Given the description of an element on the screen output the (x, y) to click on. 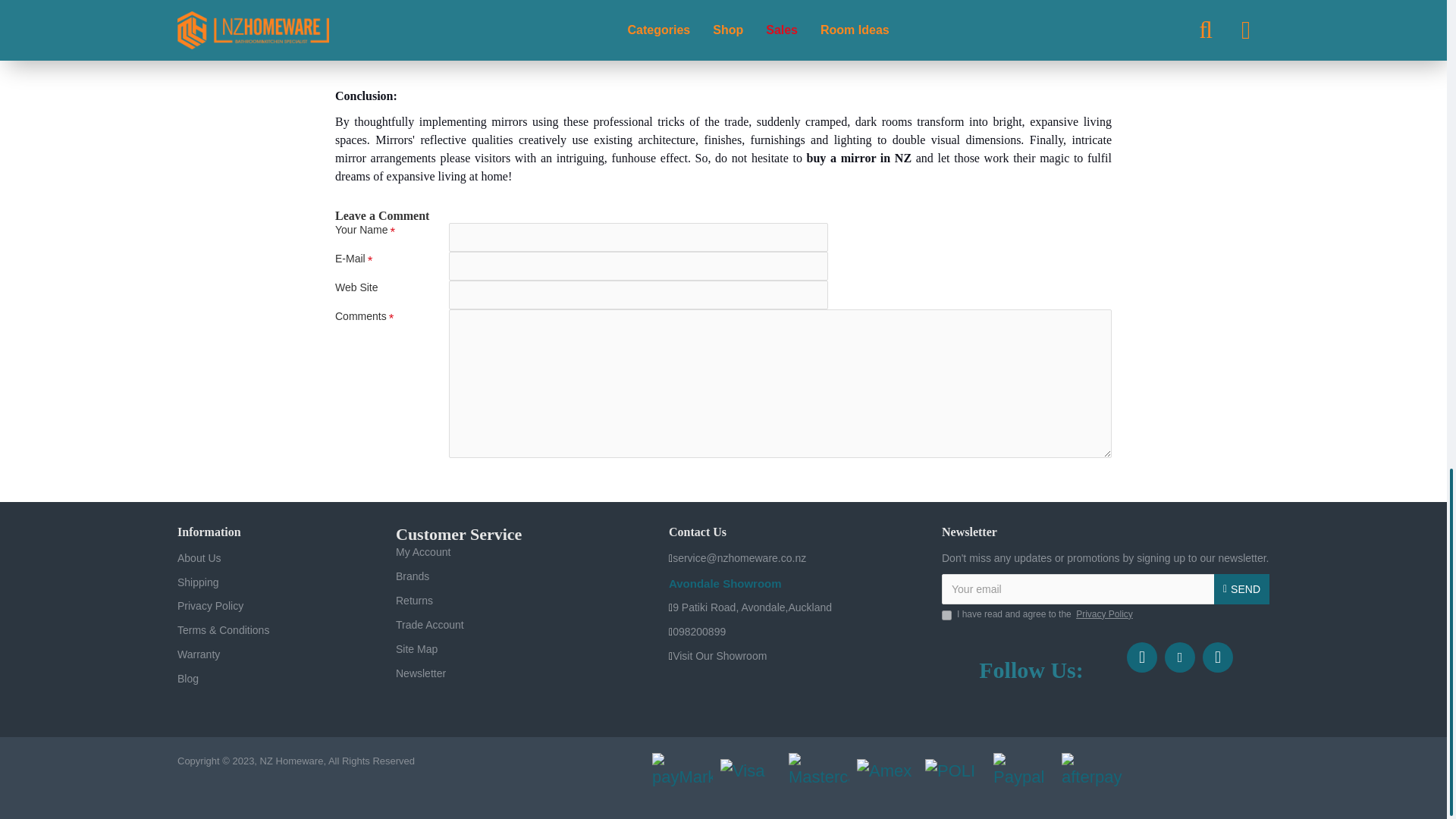
1 (947, 614)
Instagram (1179, 657)
Facebook (1141, 657)
YouTuBe (1217, 657)
